Given the description of an element on the screen output the (x, y) to click on. 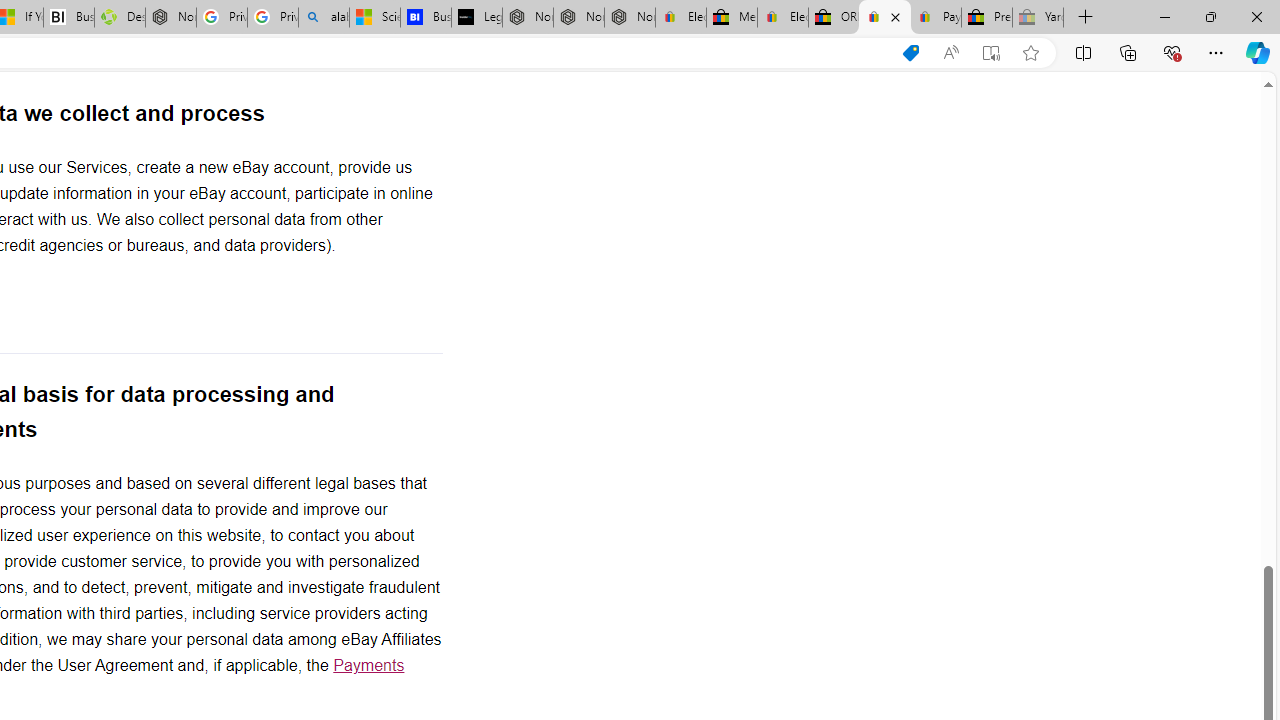
Nordace - My Account (170, 17)
